Given the description of an element on the screen output the (x, y) to click on. 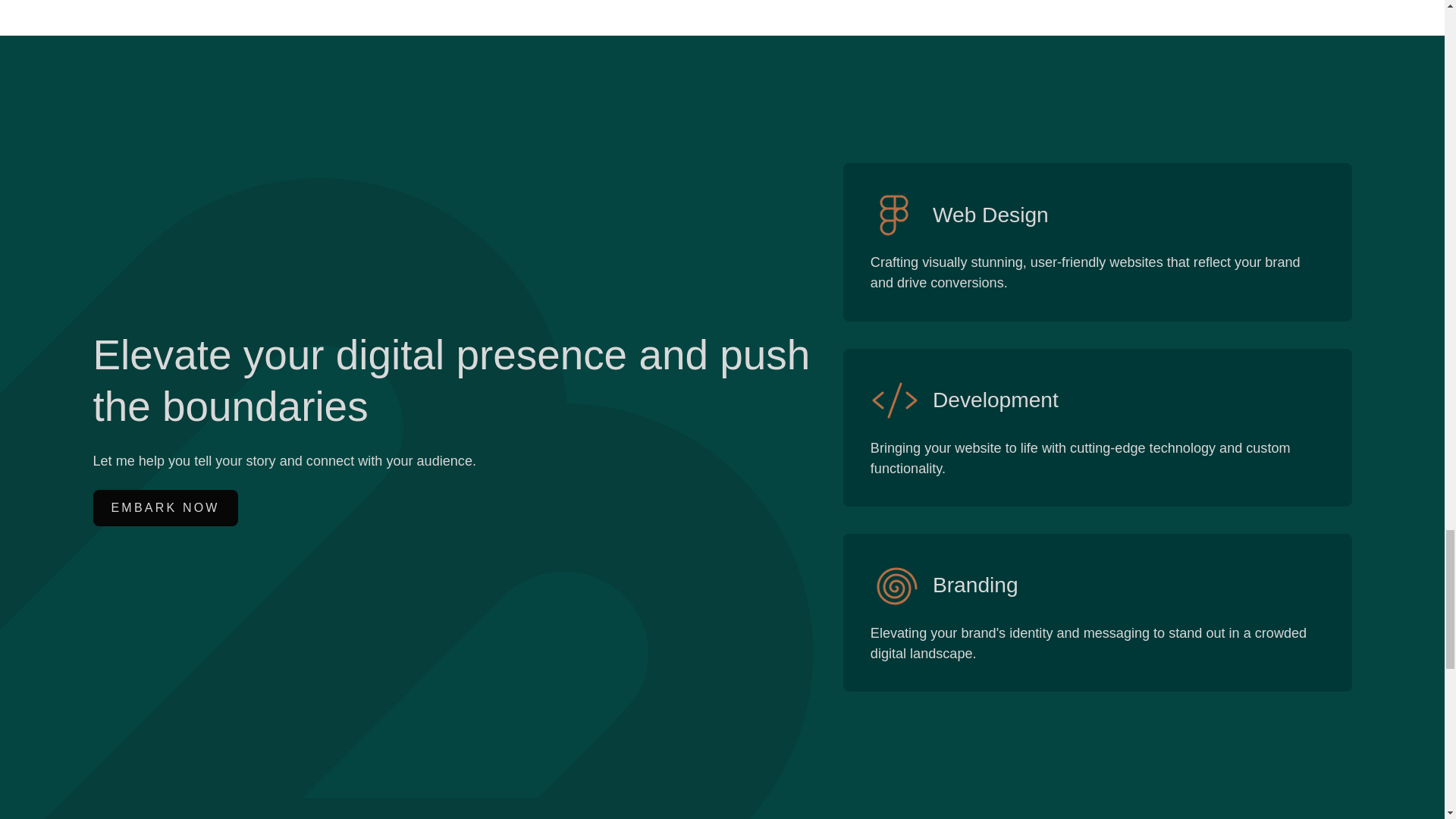
EMBARK NOW (165, 507)
